Given the description of an element on the screen output the (x, y) to click on. 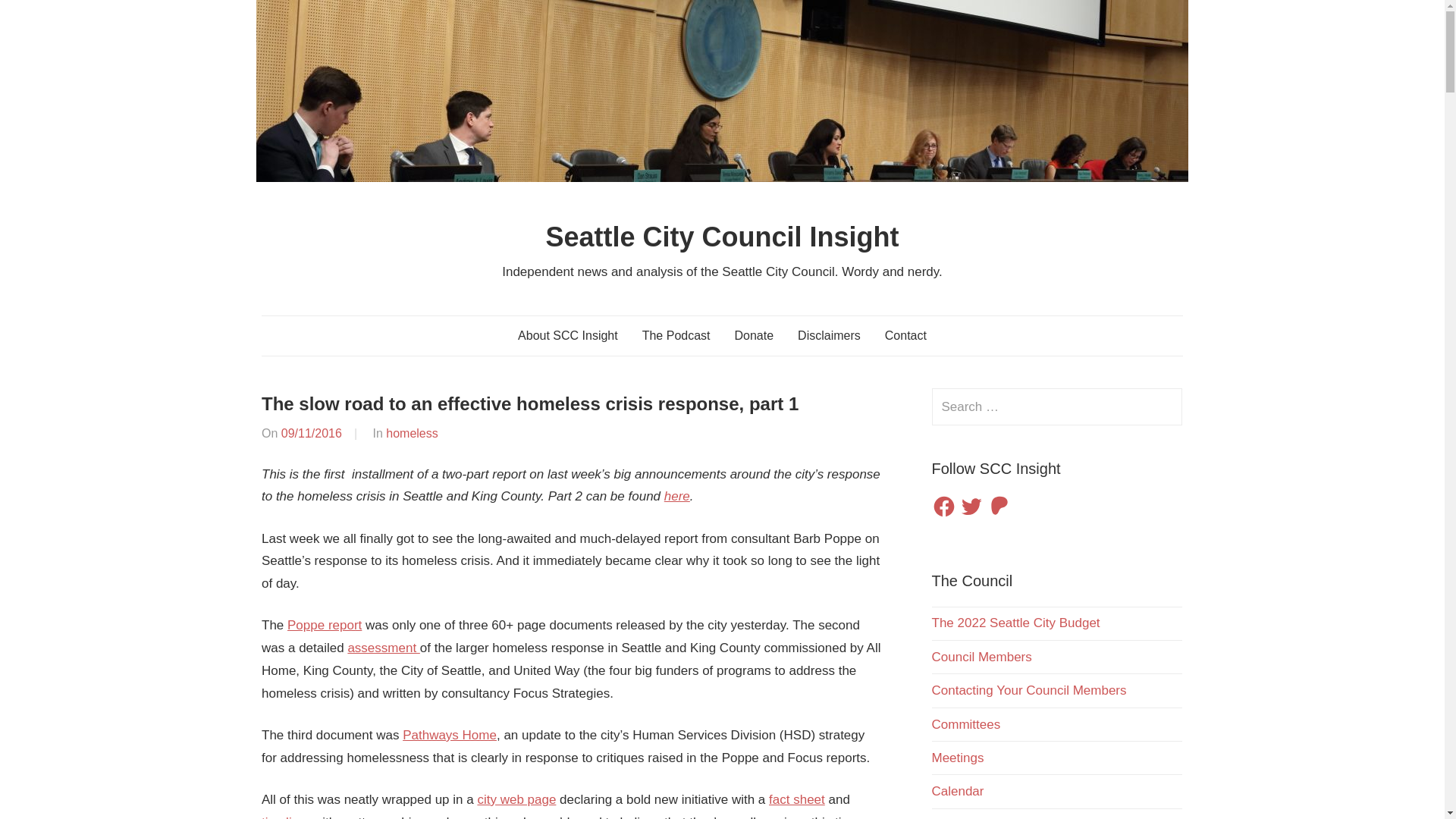
here (676, 495)
About SCC Insight (567, 335)
Donate (754, 335)
timeline (283, 816)
assessment (383, 647)
Disclaimers (829, 335)
Seattle City Council Insight (721, 236)
The Podcast (676, 335)
Poppe report (323, 625)
Contact (905, 335)
